Given the description of an element on the screen output the (x, y) to click on. 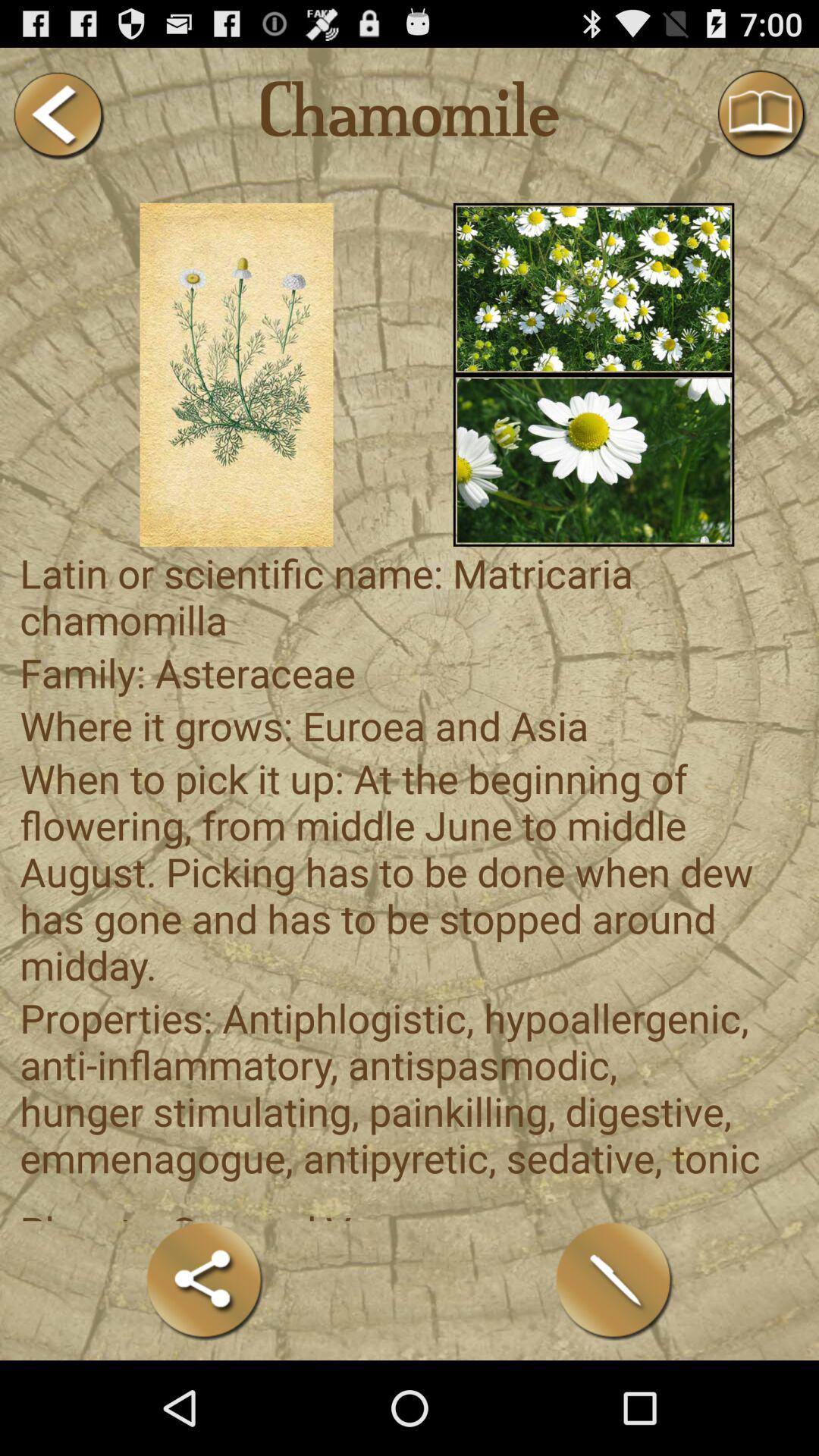
bunch of white flowers (593, 288)
